Given the description of an element on the screen output the (x, y) to click on. 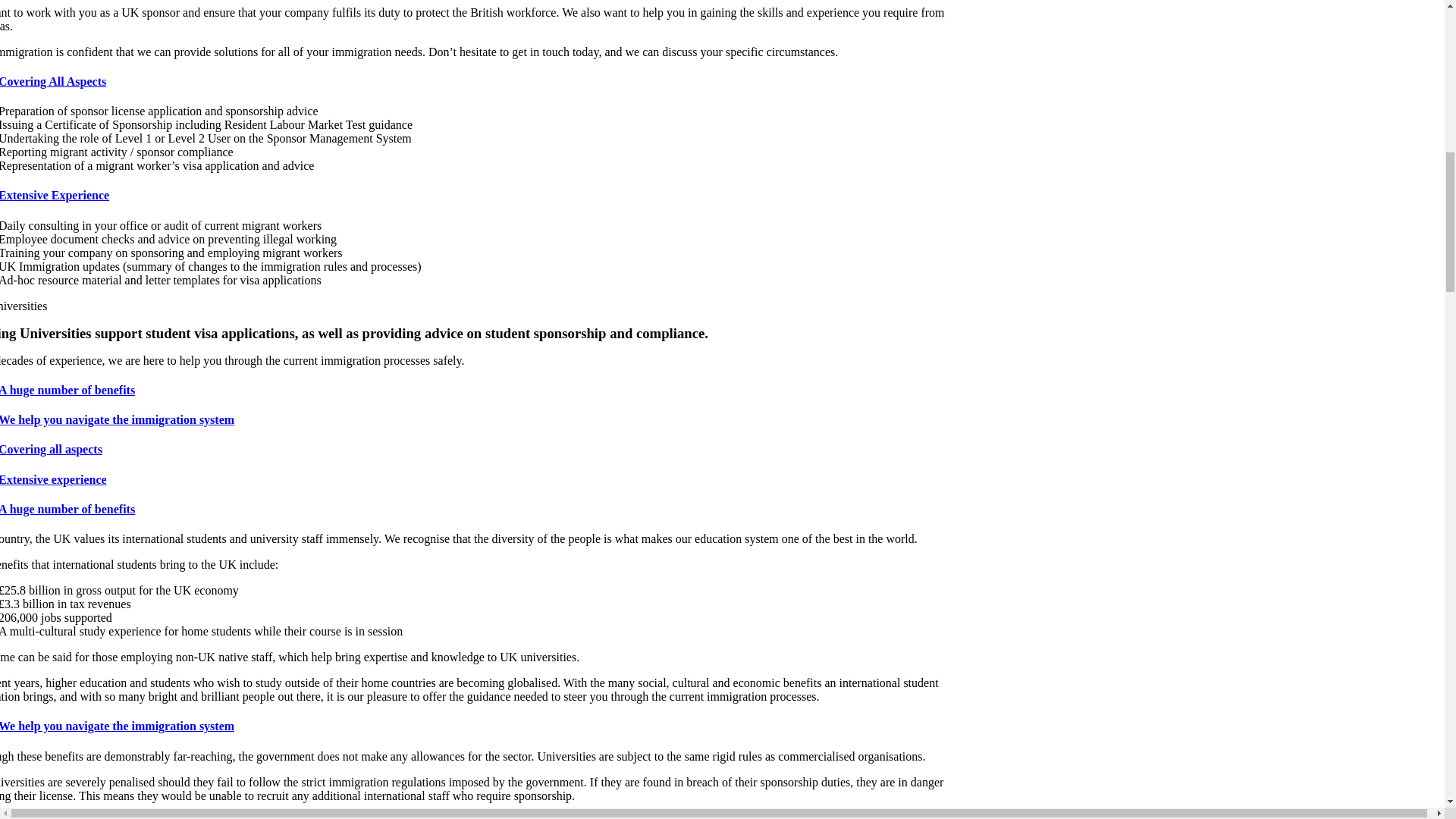
Covering all aspects (476, 449)
Extensive Experience (476, 195)
A huge number of benefits (476, 509)
Extensive experience (476, 479)
We help you navigate the immigration system (476, 419)
A huge number of benefits (476, 390)
We help you navigate the immigration system (476, 726)
Covering All Aspects (476, 81)
